Given the description of an element on the screen output the (x, y) to click on. 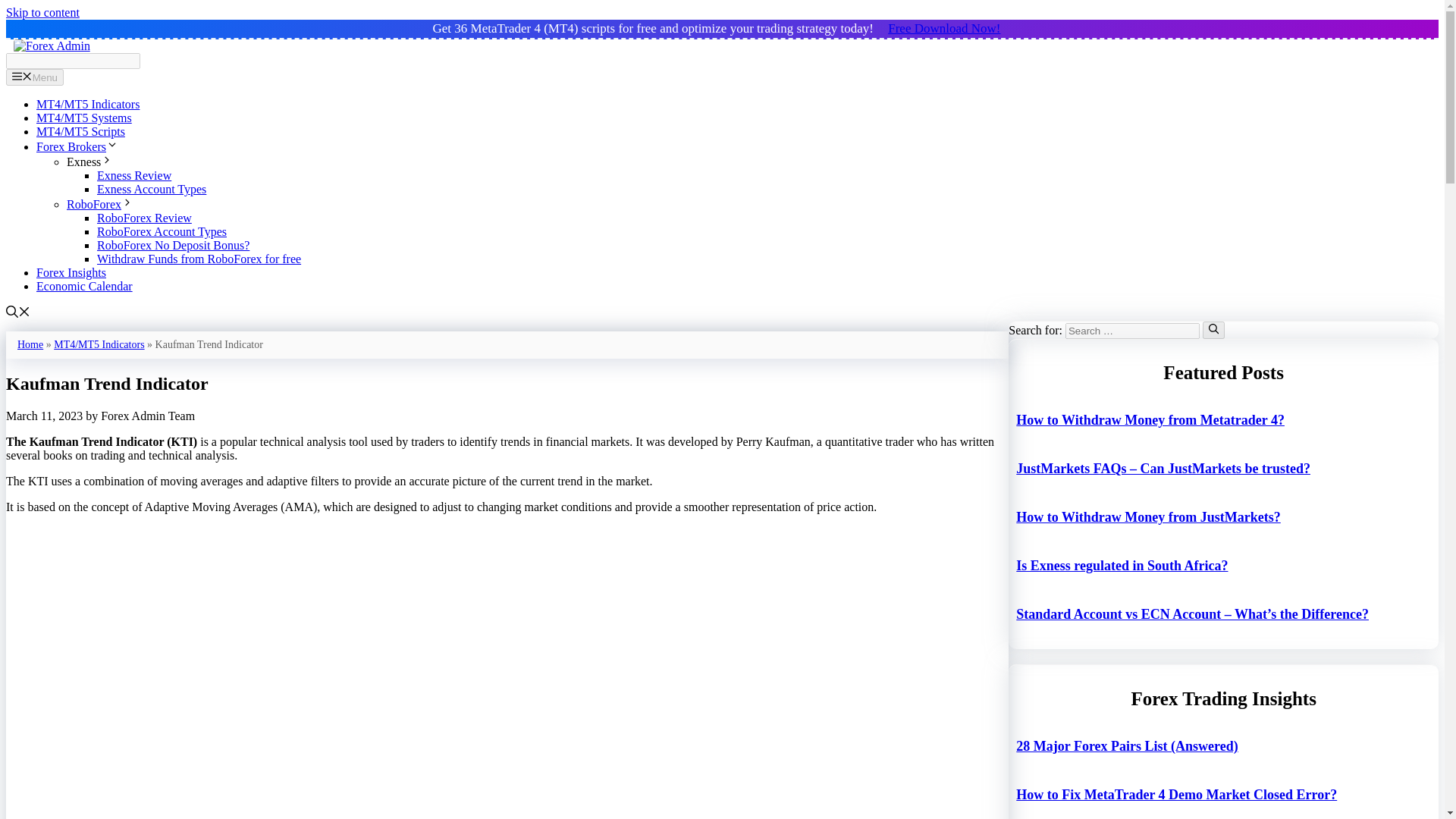
RoboForex Review (144, 217)
Forex Admin (51, 46)
Forex Brokers (76, 146)
Home (30, 344)
Forex Insights (71, 272)
RoboForex (99, 204)
Exness Review (134, 174)
Search (72, 60)
Search for: (1132, 330)
Skip to content (42, 11)
